Given the description of an element on the screen output the (x, y) to click on. 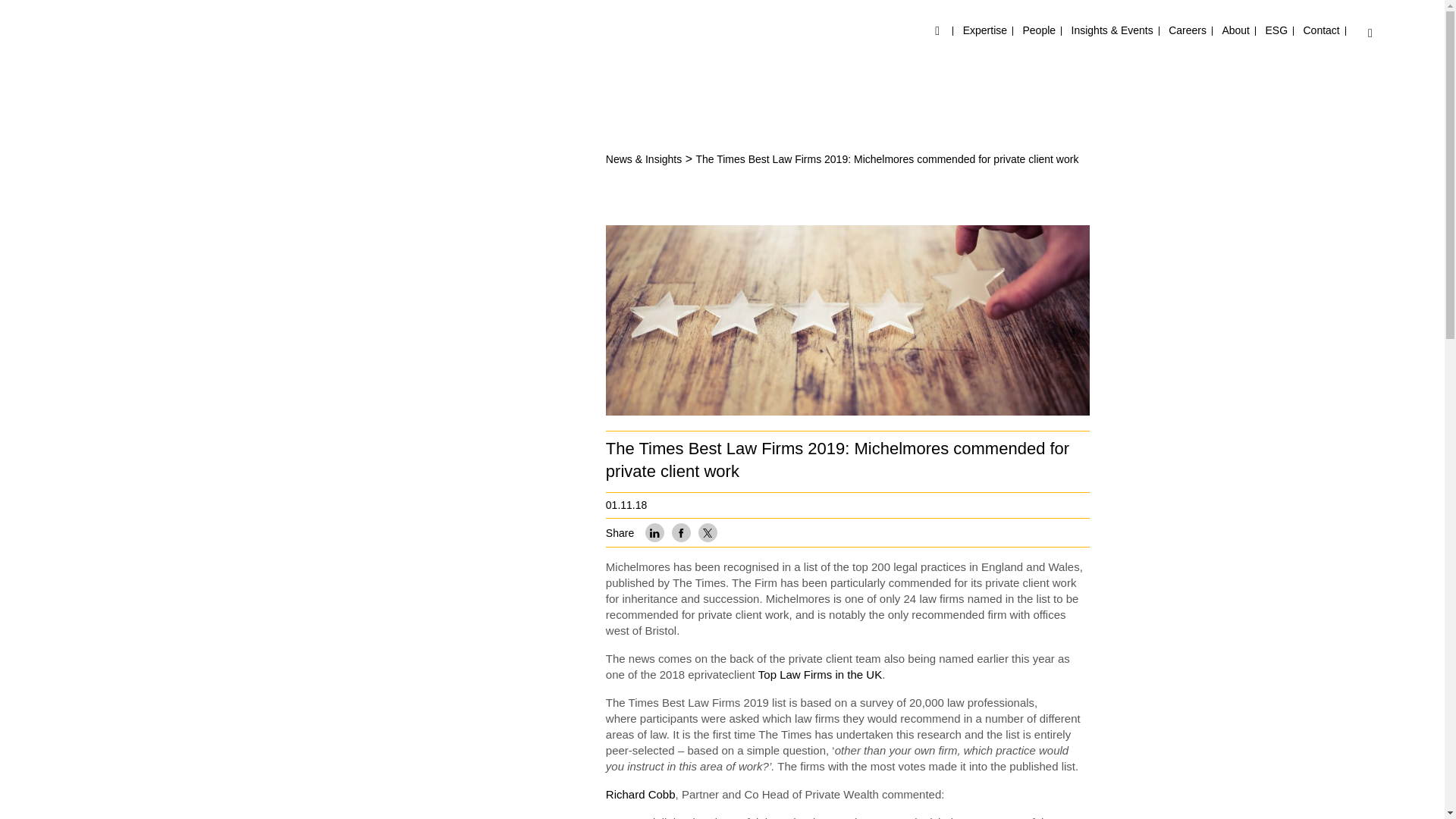
Richard Cobb (640, 793)
Contact (1321, 30)
Careers (1188, 30)
ESG (1276, 30)
Expertise (984, 30)
About (1235, 30)
People (1038, 30)
Top Law Firms in the UK (820, 674)
